Given the description of an element on the screen output the (x, y) to click on. 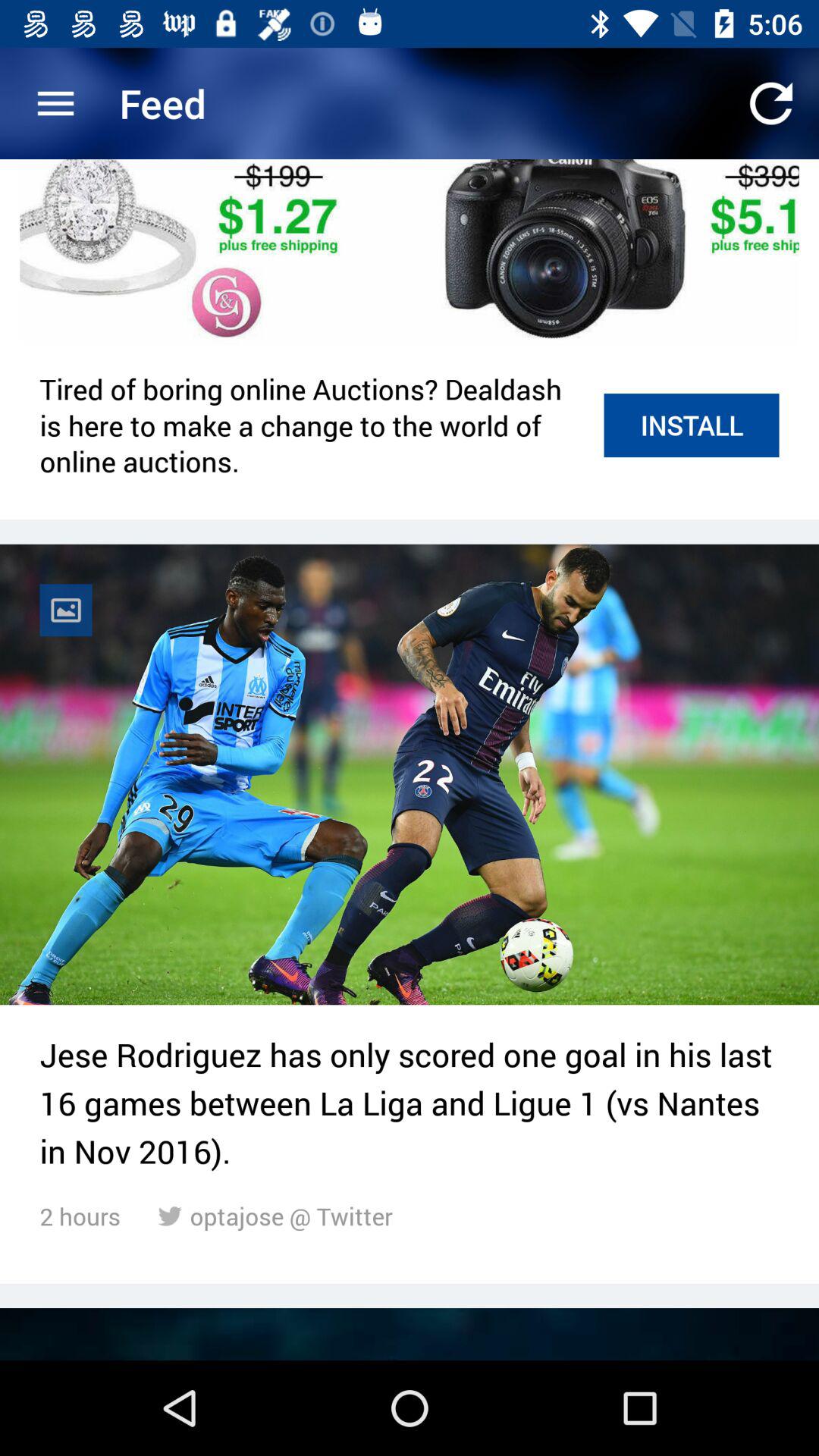
click the item next to the feed item (55, 103)
